Given the description of an element on the screen output the (x, y) to click on. 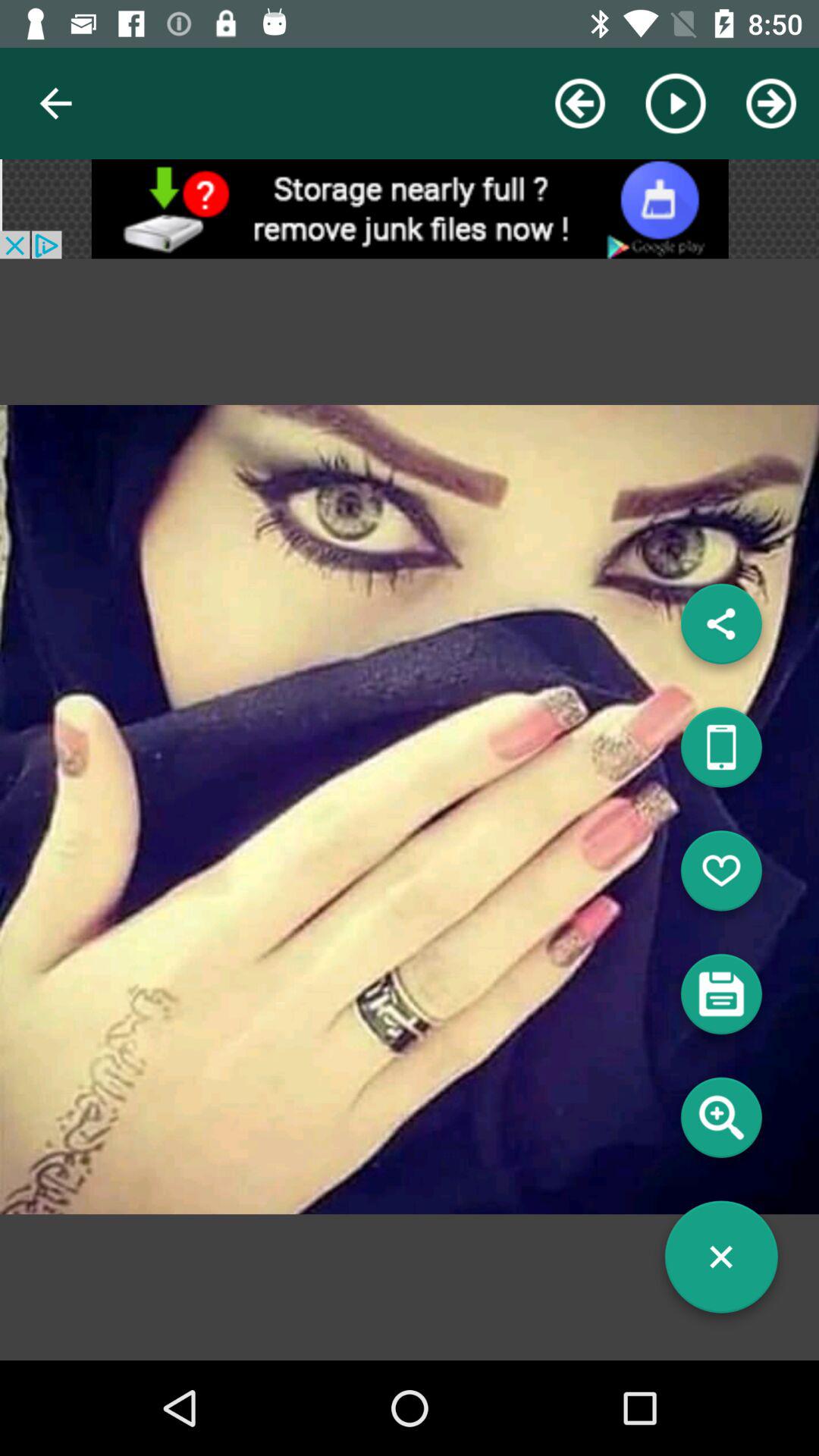
share the photo (721, 629)
